Given the description of an element on the screen output the (x, y) to click on. 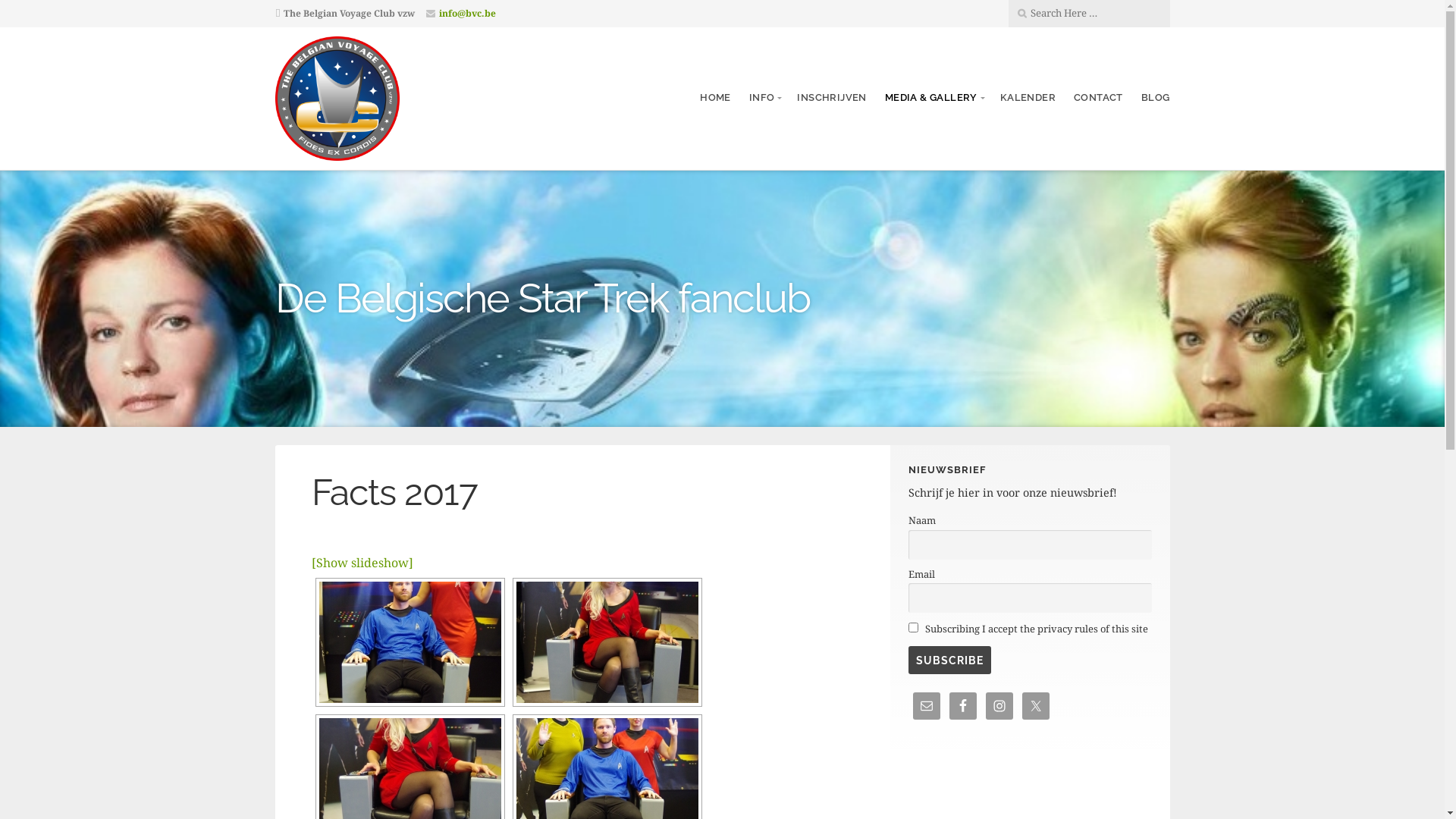
CONTACT Element type: text (1098, 97)
MEDIA & GALLERY Element type: text (933, 97)
Subscribe Element type: text (949, 660)
INFO Element type: text (764, 97)
BLOG Element type: text (1155, 97)
KALENDER Element type: text (1027, 97)
info@bvc.be Element type: text (466, 12)
Facts2017_02_094 Element type: hover (607, 641)
Facts2017_02_093 Element type: hover (410, 641)
INSCHRIJVEN Element type: text (831, 97)
Go Element type: text (116, 12)
HOME Element type: text (715, 97)
[Show slideshow] Element type: text (362, 562)
